Given the description of an element on the screen output the (x, y) to click on. 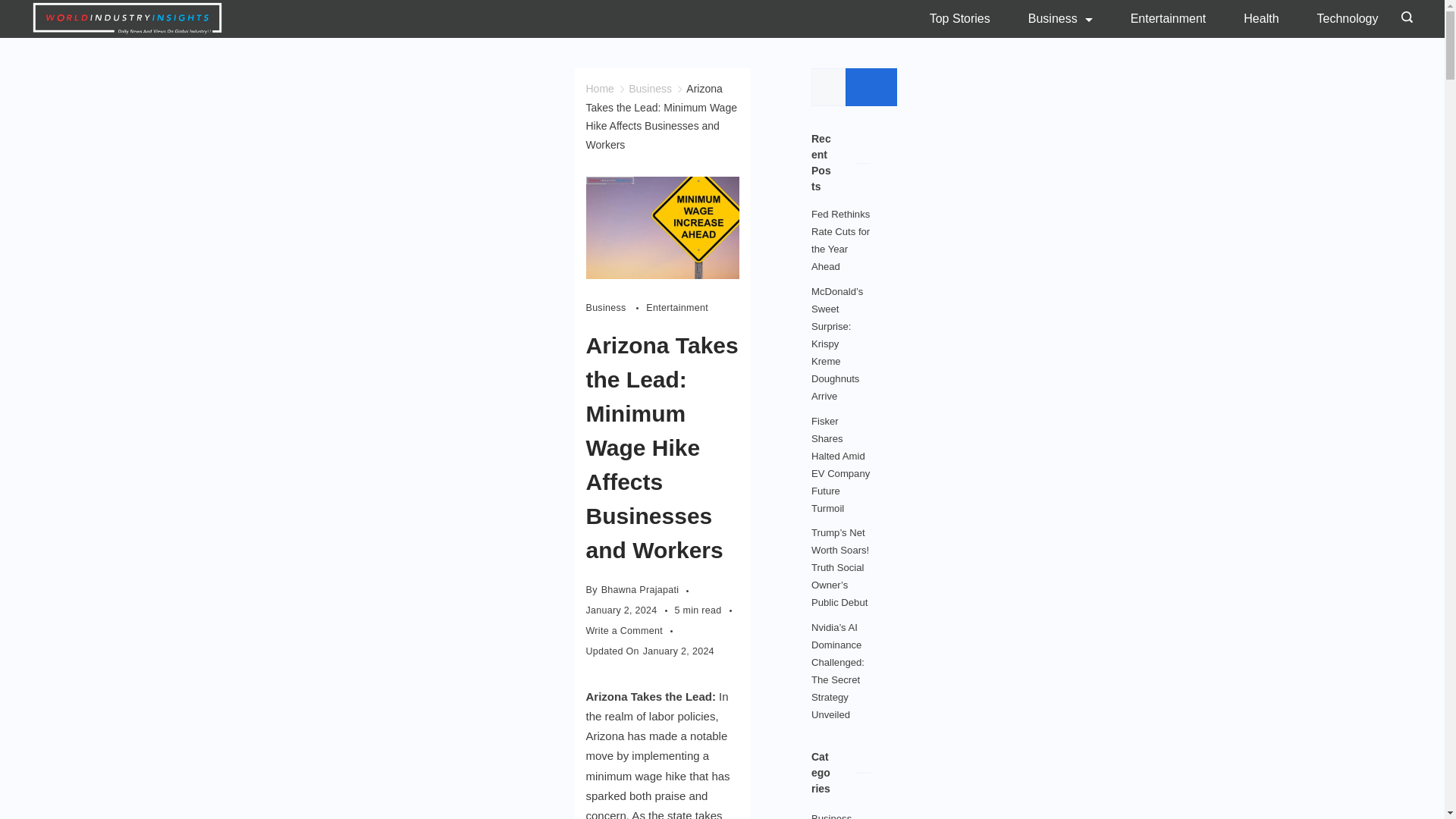
Business (1060, 18)
Home (598, 88)
Top Stories (969, 18)
Bhawna Prajapati (640, 589)
Technology (1338, 18)
Business (649, 88)
Search (870, 86)
Business (615, 308)
Health (1260, 18)
Entertainment (676, 308)
Entertainment (1168, 18)
